Given the description of an element on the screen output the (x, y) to click on. 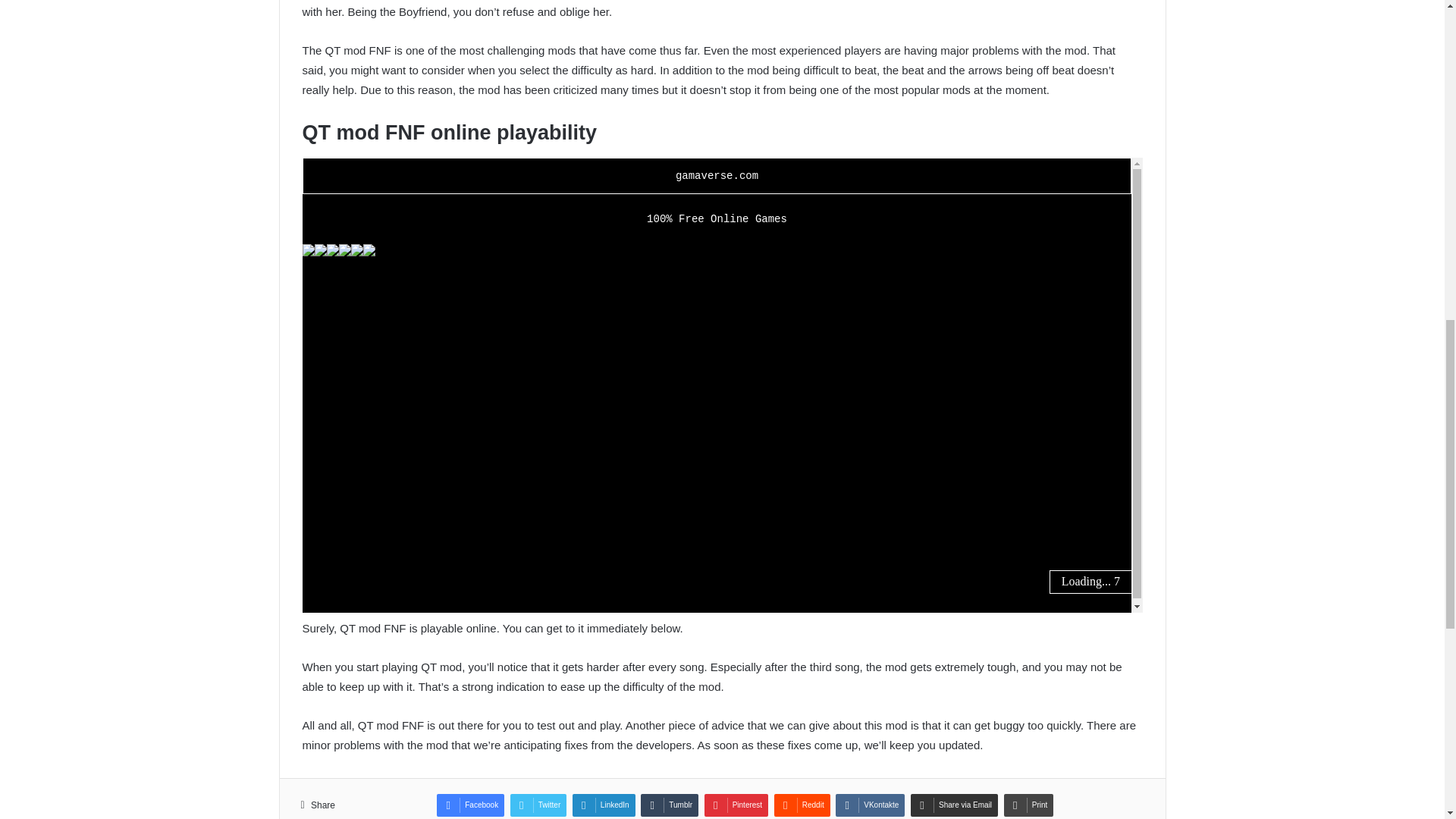
Tumblr (669, 804)
Reddit (801, 804)
Twitter (538, 804)
LinkedIn (603, 804)
Pinterest (736, 804)
VKontakte (869, 804)
Facebook (469, 804)
